Given the description of an element on the screen output the (x, y) to click on. 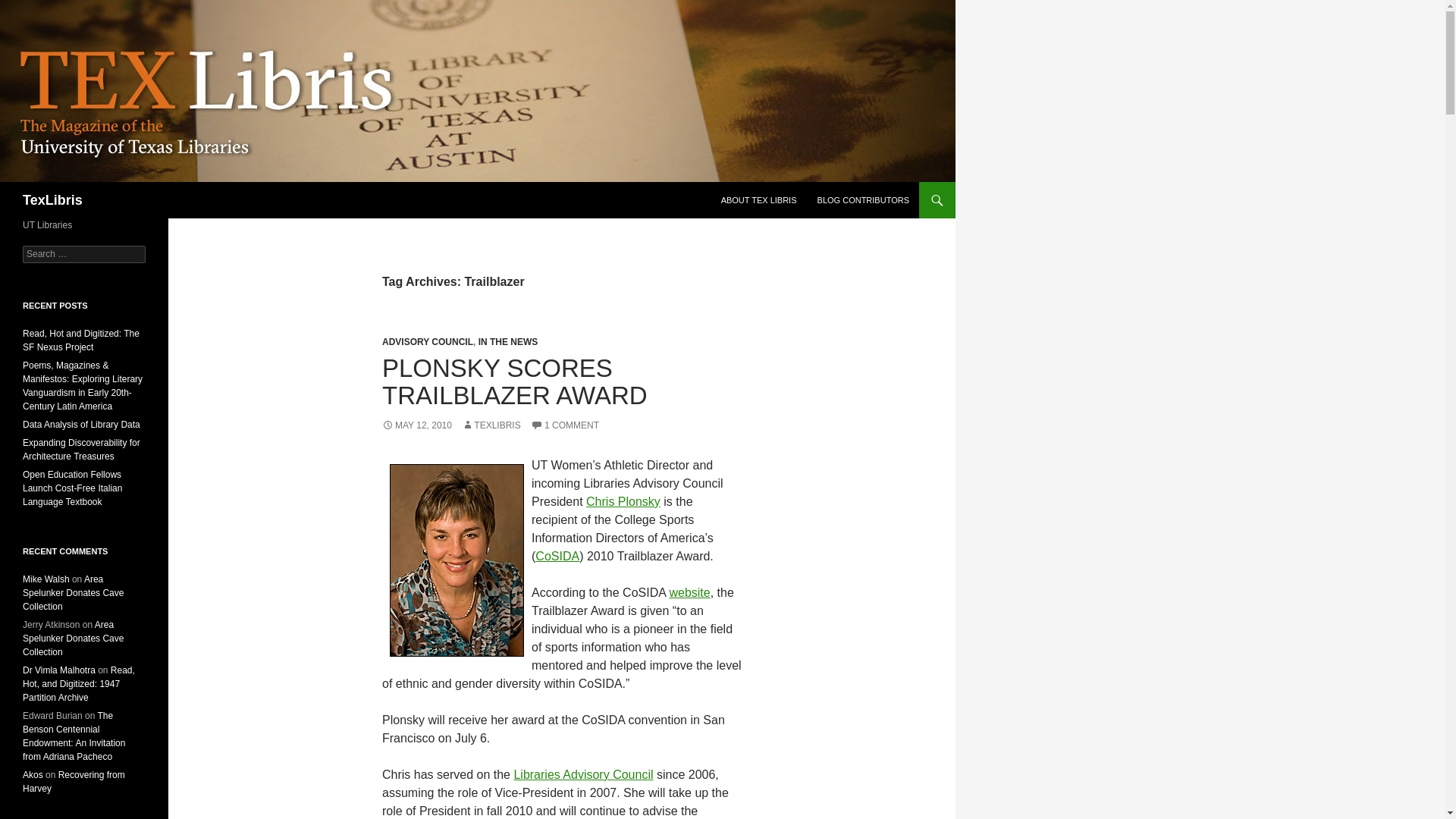
PLONSKY SCORES TRAILBLAZER AWARD (514, 381)
Area Spelunker Donates Cave Collection (73, 638)
Data Analysis of Library Data (81, 424)
TEXLIBRIS (490, 425)
BLOG CONTRIBUTORS (863, 199)
TexLibris (52, 199)
Area Spelunker Donates Cave Collection (73, 592)
ABOUT TEX LIBRIS (758, 199)
Mike Walsh (46, 579)
Libraries Advisory Council (582, 774)
MAY 12, 2010 (416, 425)
Recovering from Harvey (74, 781)
Expanding Discoverability for Architecture Treasures (81, 449)
